Given the description of an element on the screen output the (x, y) to click on. 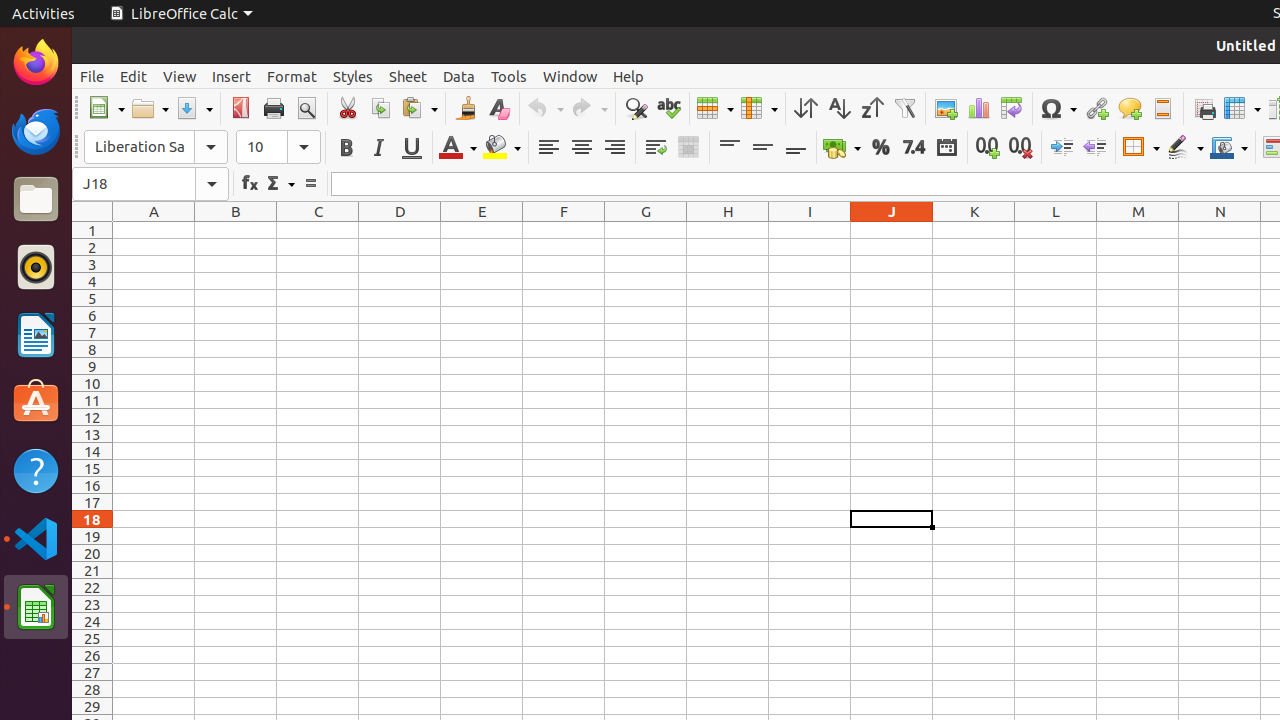
Format Element type: menu (292, 76)
K1 Element type: table-cell (974, 230)
Save Element type: push-button (194, 108)
